Given the description of an element on the screen output the (x, y) to click on. 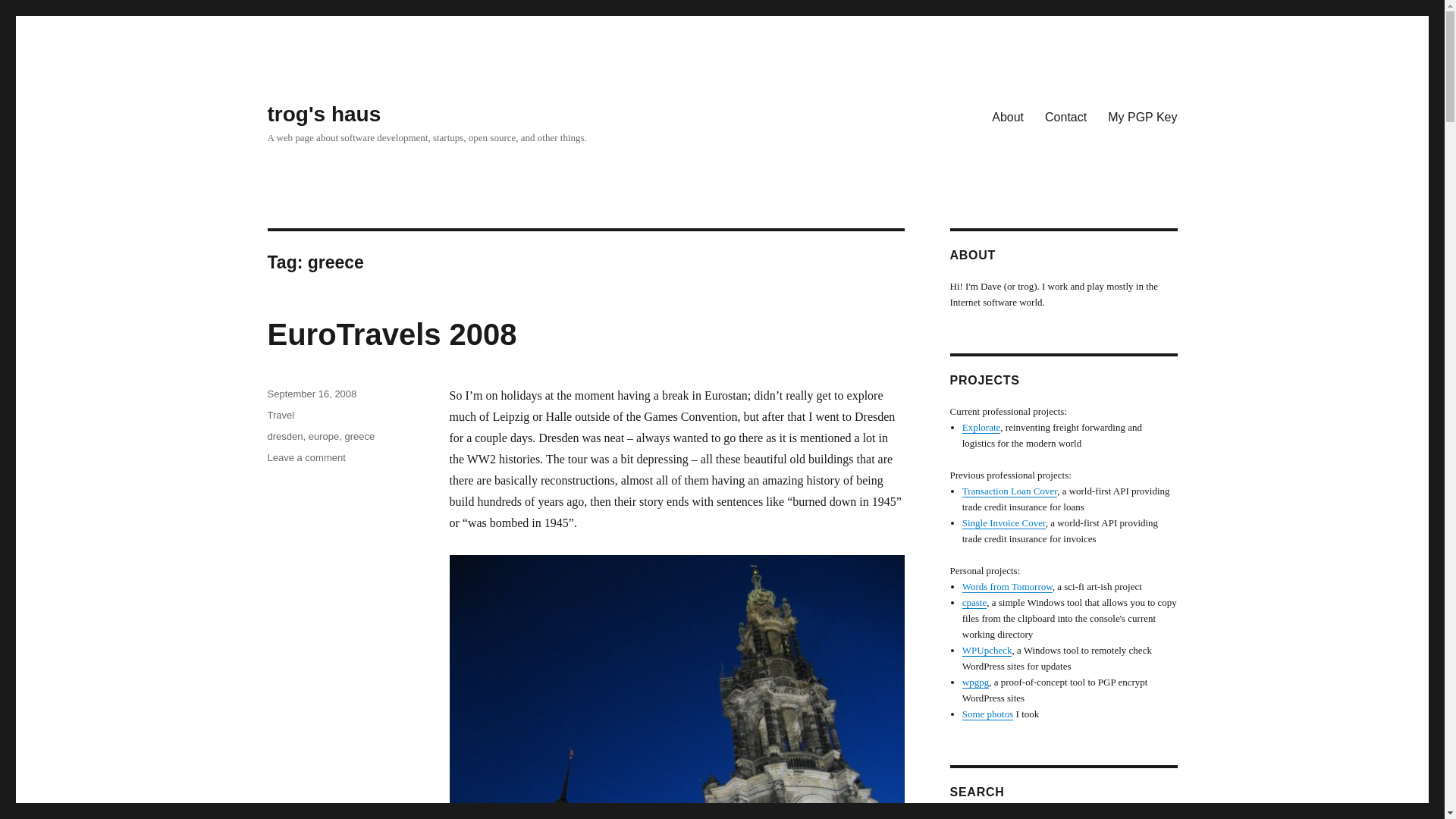
Words from Tomorrow (1007, 586)
SEARCH (1164, 817)
dresden (284, 436)
Transaction Loan Cover (1009, 490)
September 16, 2008 (311, 393)
My PGP Key (1142, 116)
Single Invoice Cover (1003, 522)
Some photos (987, 713)
wpgpg (975, 681)
Travel (305, 457)
trog's haus (280, 414)
EuroTravels 2008 (323, 114)
About (391, 334)
europe (1007, 116)
